Given the description of an element on the screen output the (x, y) to click on. 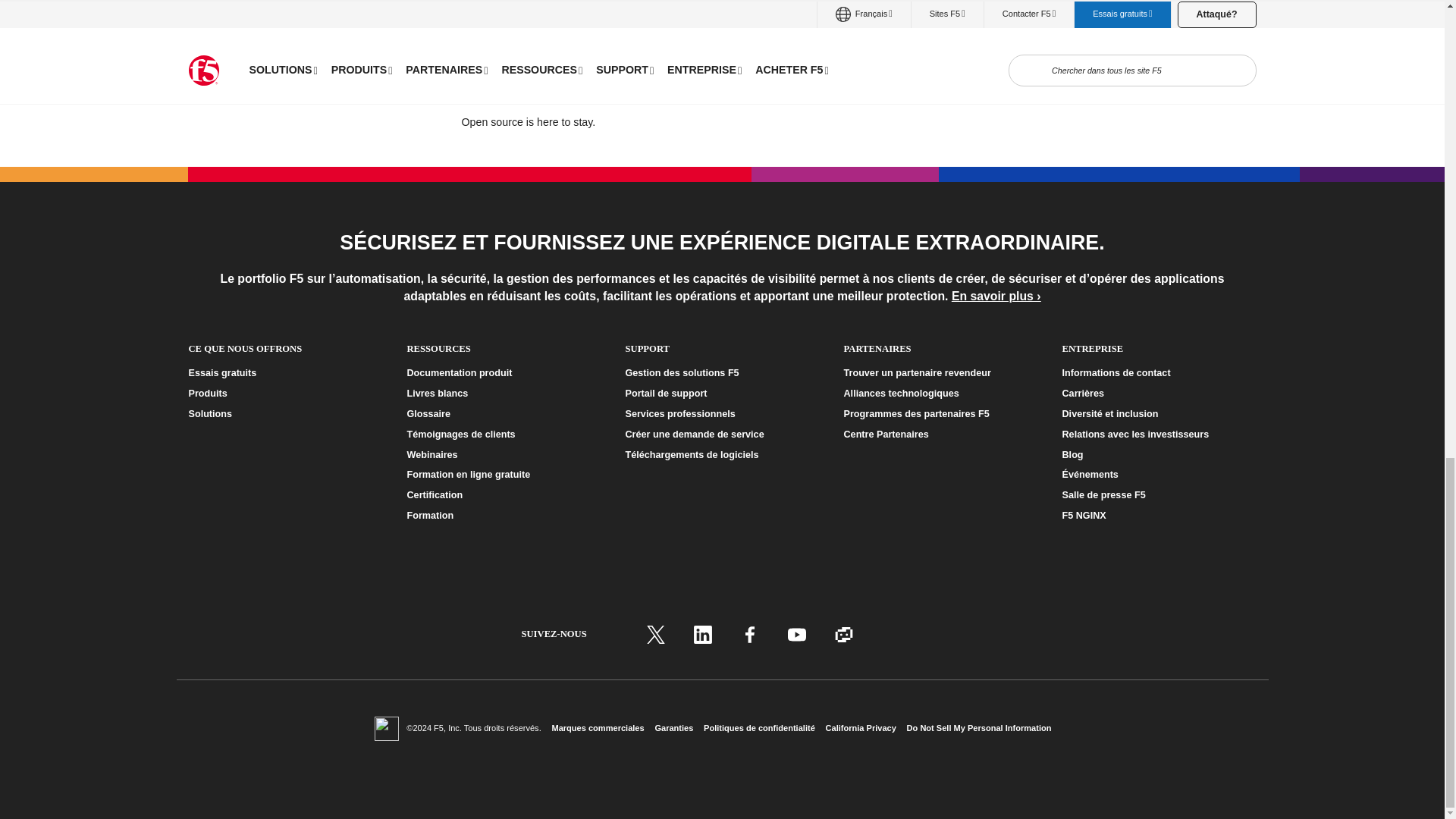
Solutions (284, 414)
Produits (284, 393)
Webinaires (502, 454)
Glossaire (502, 414)
Livres blancs (502, 393)
Documentation produit (502, 373)
Essais gratuits (284, 373)
terraforming BIG-IP in AWS or Azure (853, 7)
